Given the description of an element on the screen output the (x, y) to click on. 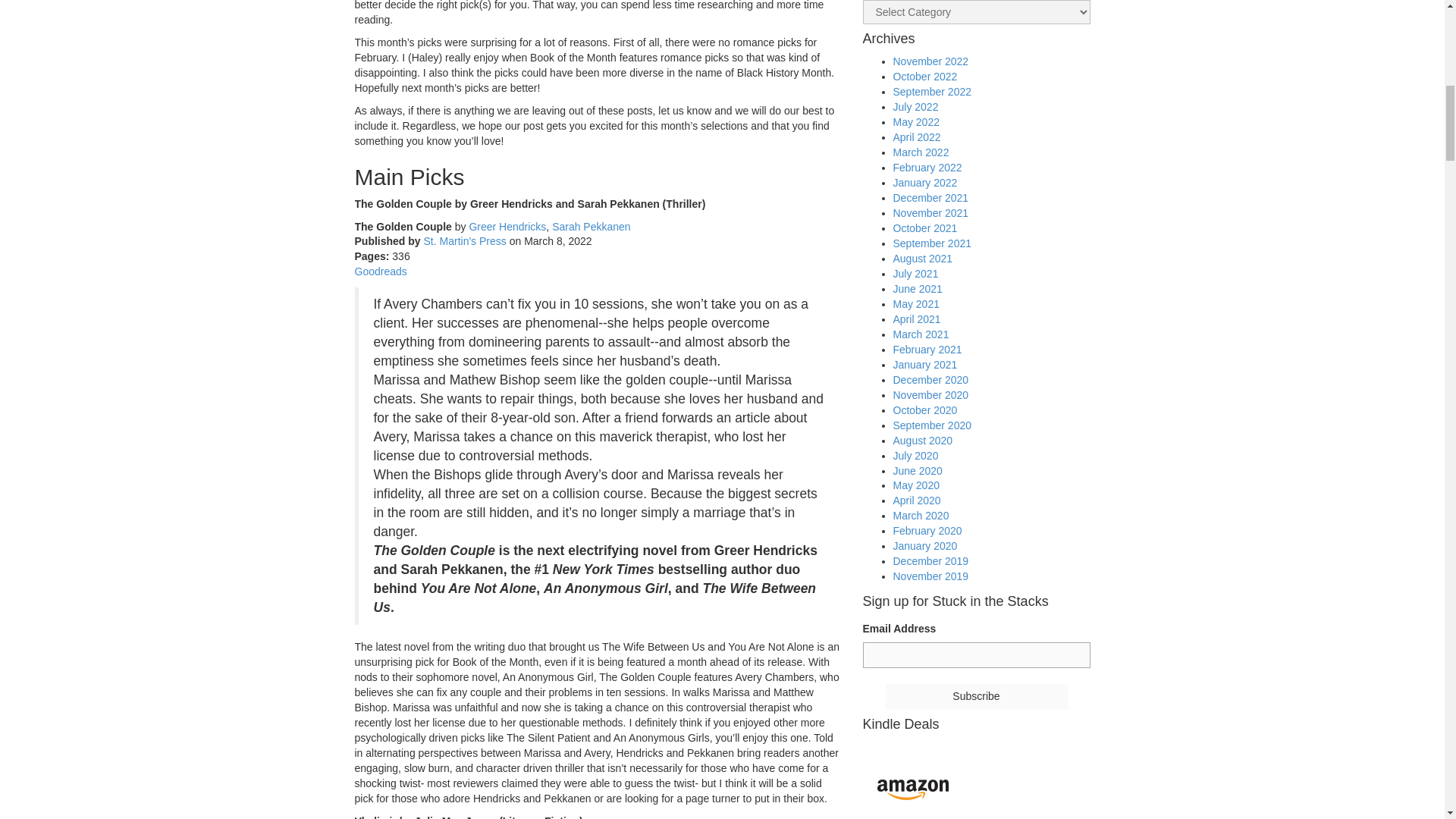
Sarah Pekkanen (590, 225)
Greer Hendricks (507, 225)
Goodreads (381, 271)
St. Martin's Press (464, 241)
Subscribe (976, 696)
